Given the description of an element on the screen output the (x, y) to click on. 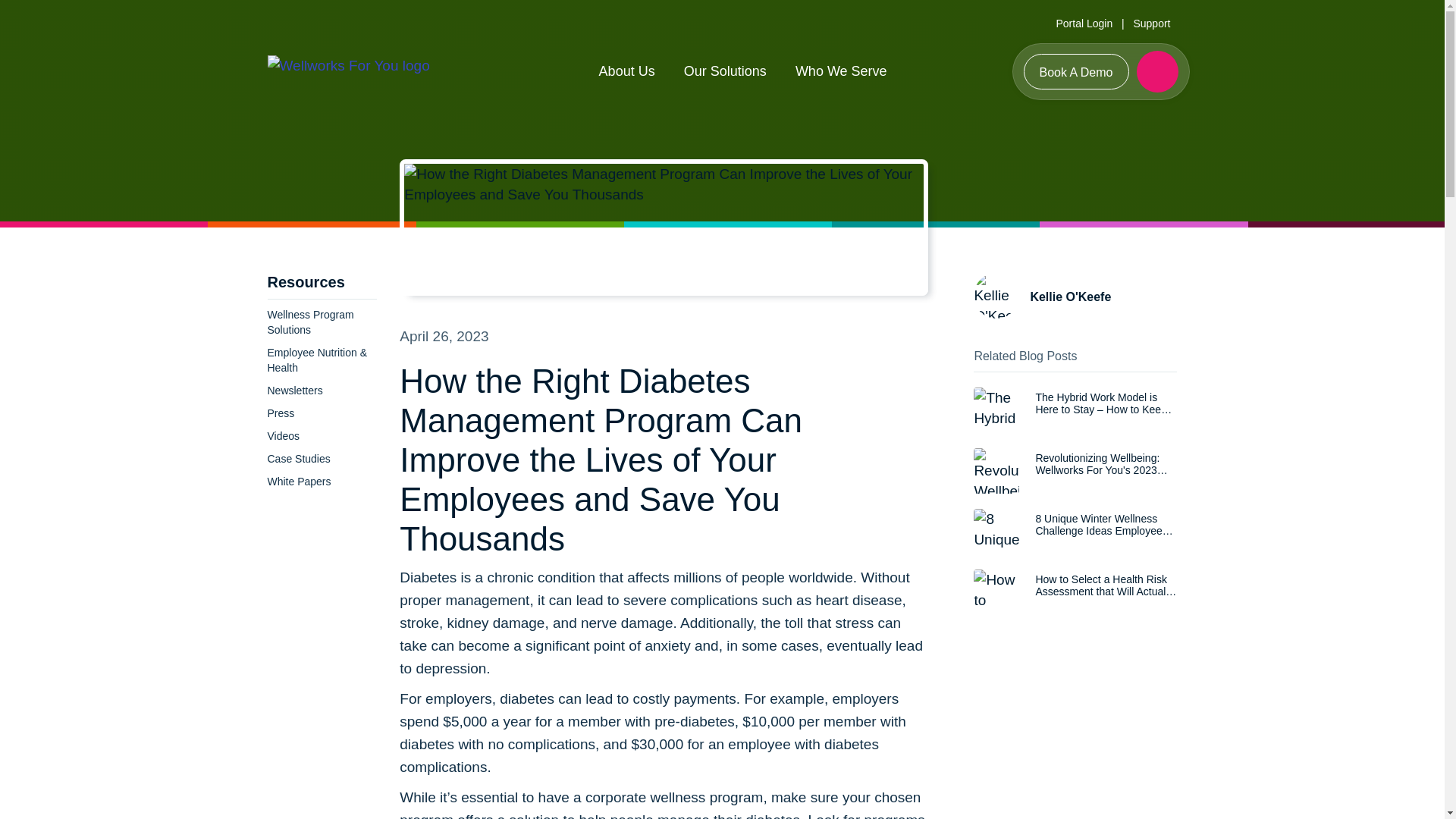
Support (1151, 23)
Book A Demo (1076, 70)
Our Solutions (725, 71)
Who We Serve (840, 71)
About Us (626, 71)
Portal Login (1083, 23)
